Given the description of an element on the screen output the (x, y) to click on. 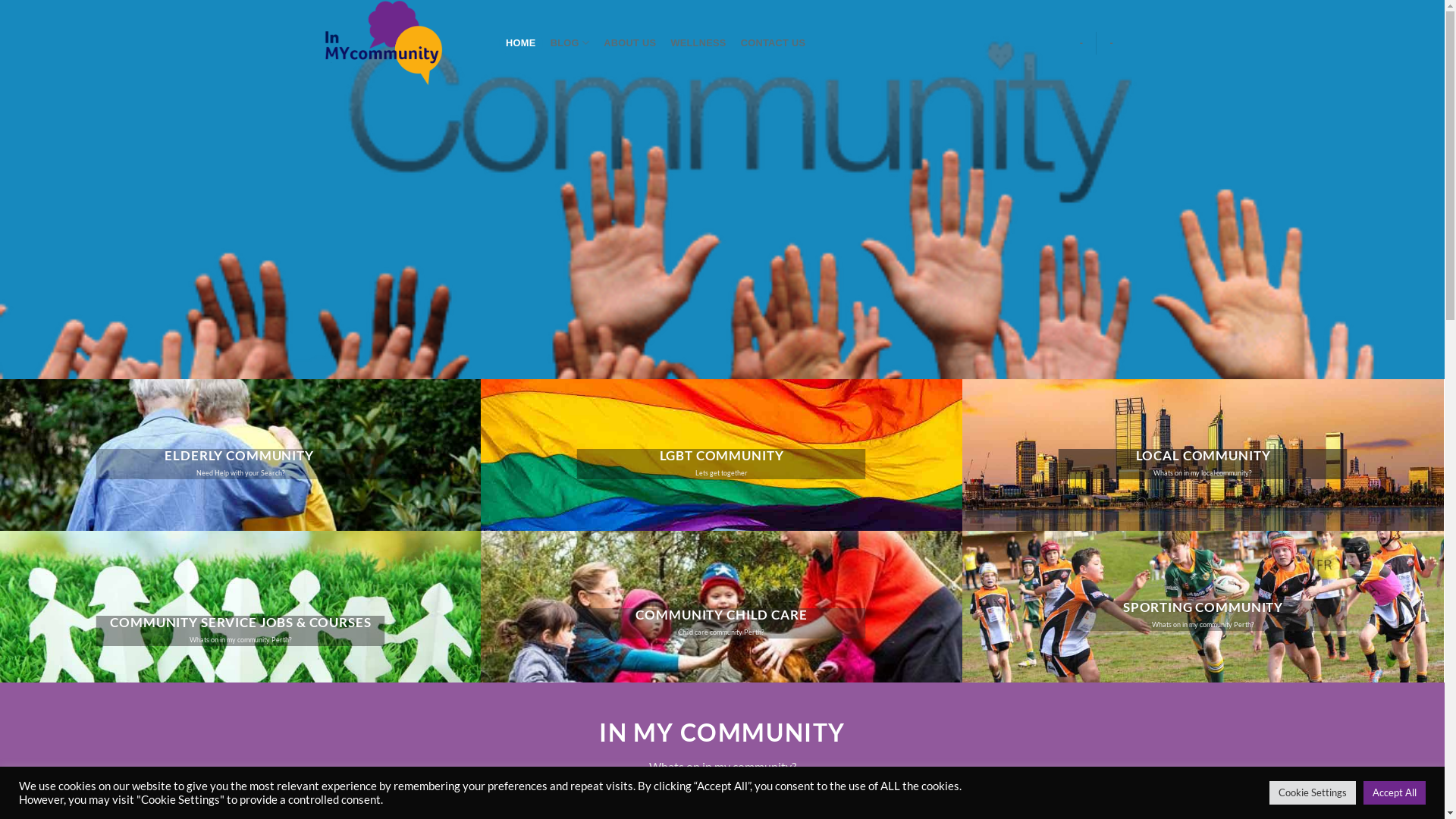
In My Community, Connecting Australia. - Community Directory Element type: hover (400, 42)
BLOG Element type: text (569, 42)
WELLNESS Element type: text (698, 42)
Cookie Settings Element type: text (1312, 792)
HOME Element type: text (520, 42)
Accept All Element type: text (1394, 792)
- Element type: text (1081, 42)
- Element type: text (1111, 42)
CONTACT US Element type: text (772, 42)
ABOUT US Element type: text (629, 42)
